Given the description of an element on the screen output the (x, y) to click on. 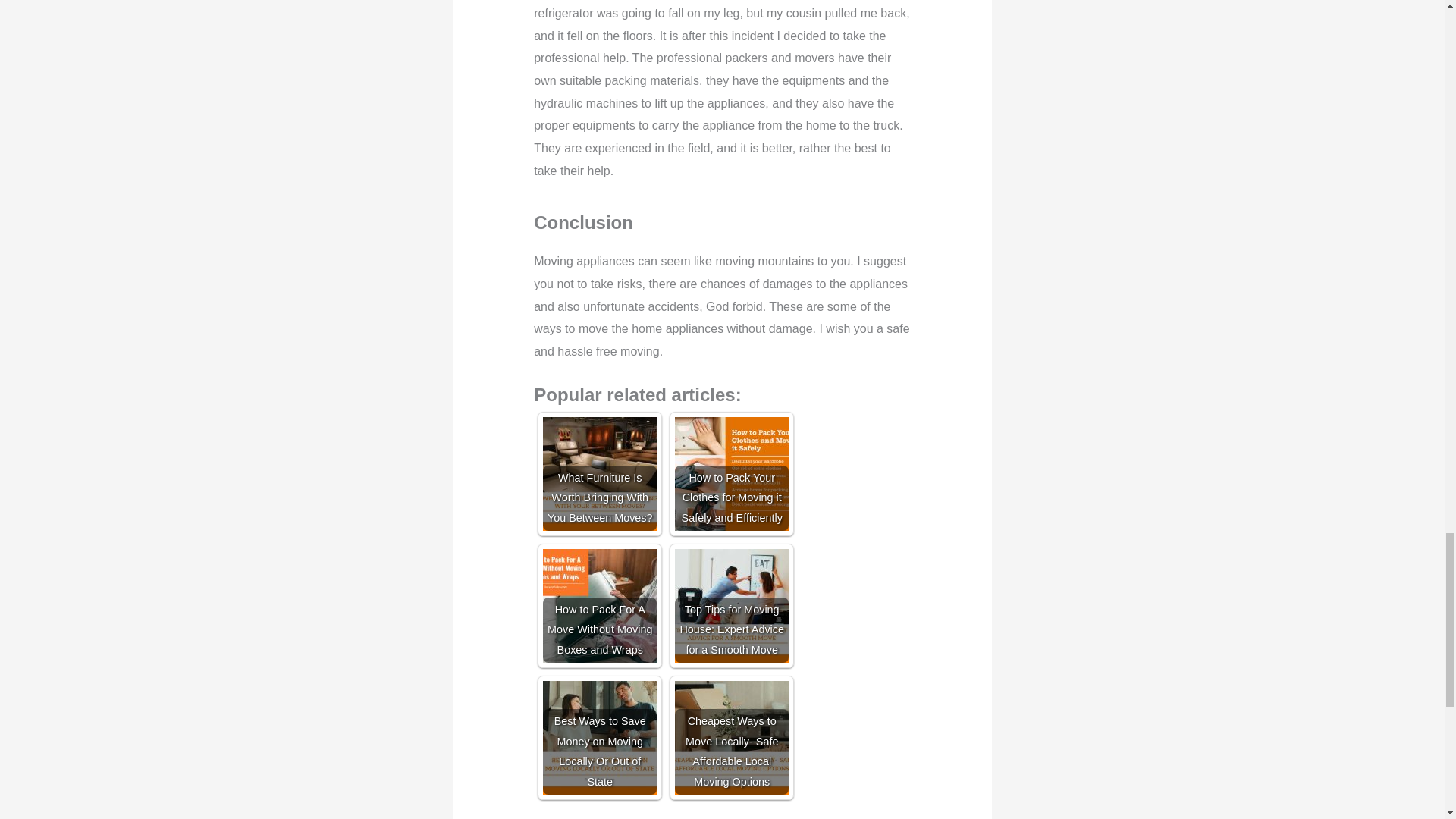
Best Ways to Save Money on Moving Locally Or Out of State (599, 737)
Best Ways to Save Money on Moving Locally Or Out of State (599, 737)
How to Pack For A Move Without Moving Boxes and Wraps (599, 605)
What Furniture Is Worth Bringing With You Between Moves? (599, 473)
How to Pack For A Move Without Moving Boxes and Wraps (599, 605)
What Furniture Is Worth Bringing With You Between Moves? (599, 473)
Top Tips for Moving House: Expert Advice for a Smooth Move (732, 605)
Top Tips for Moving House: Expert Advice for a Smooth Move (732, 605)
